Given the description of an element on the screen output the (x, y) to click on. 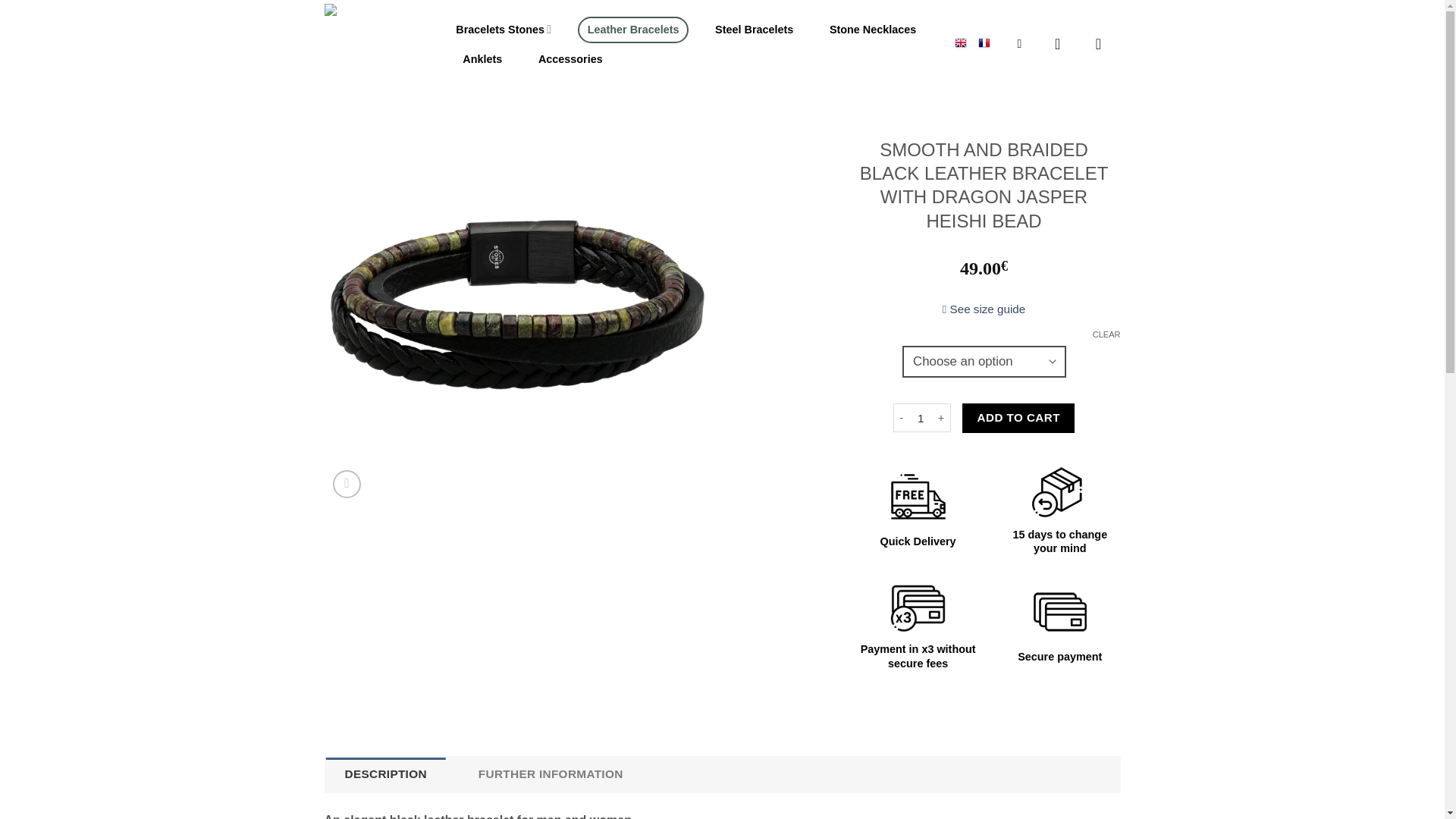
ADD TO CART (1018, 417)
Anklets (482, 58)
English (960, 41)
Sixtystones official website - Jewelery dedicated to men (373, 48)
Bracelets Stones (502, 29)
Zoom (347, 483)
CLEAR (1107, 334)
Cart (1103, 43)
Steel Bracelets (753, 29)
French (984, 41)
Leather Bracelets (633, 29)
Stone Necklaces (872, 29)
Accessories (569, 58)
